Given the description of an element on the screen output the (x, y) to click on. 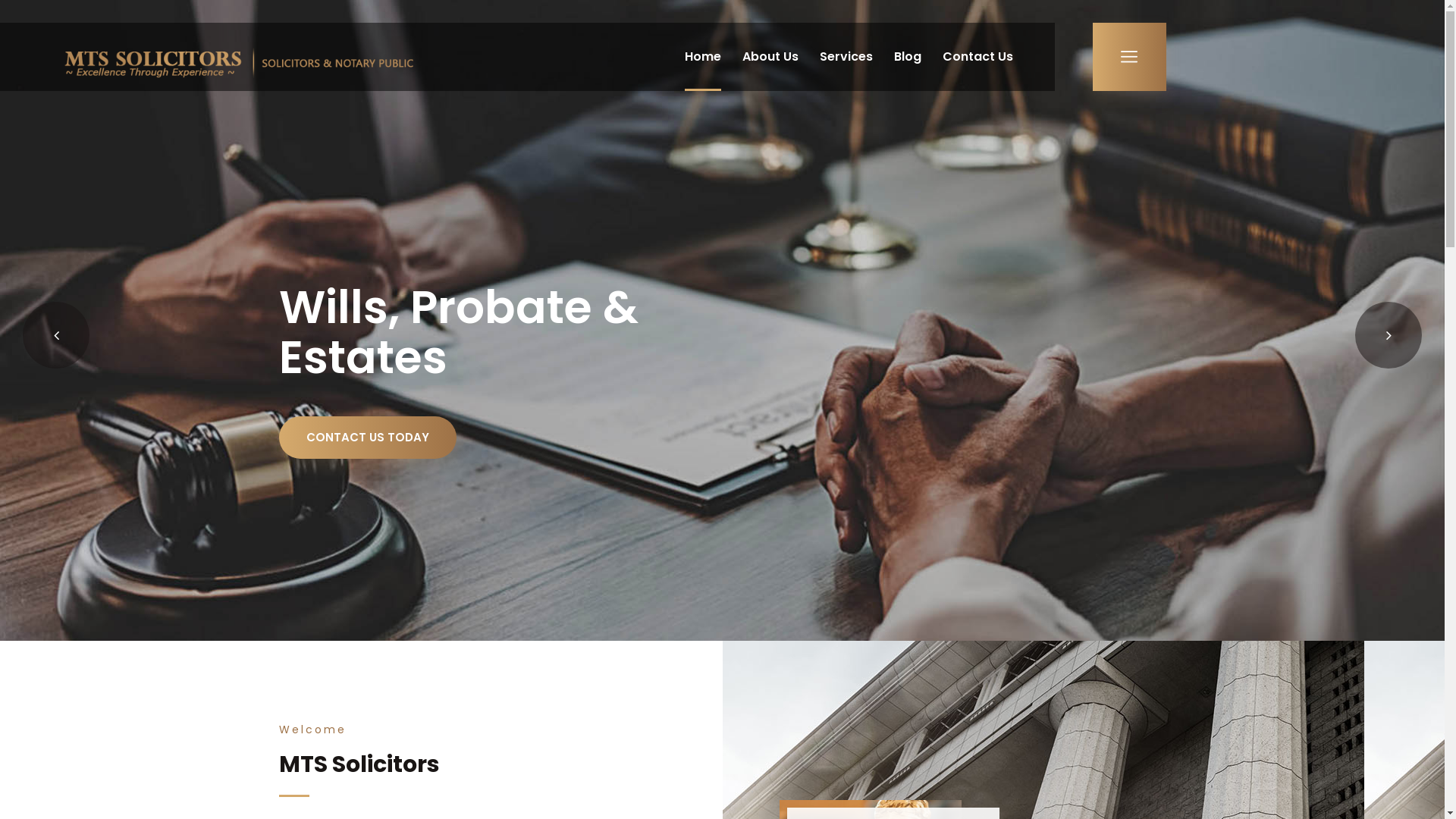
About Us Element type: text (769, 56)
Blog Element type: text (906, 56)
Home Element type: text (702, 56)
Services Element type: text (845, 56)
CONTACT US TODAY Element type: text (367, 437)
Contact Us Element type: text (976, 56)
